Given the description of an element on the screen output the (x, y) to click on. 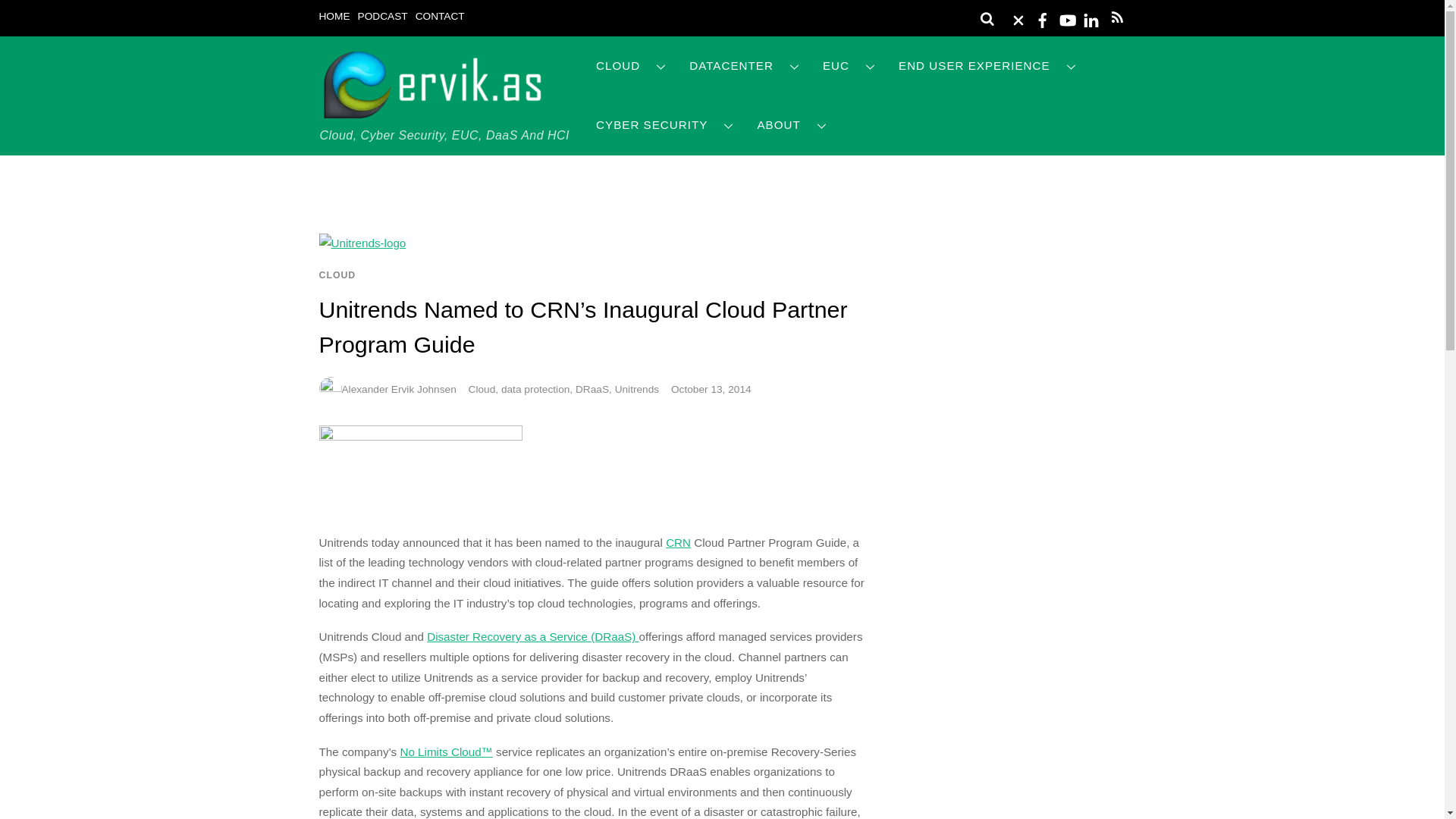
CLOUD (631, 66)
HOME (333, 16)
PODCAST (382, 16)
Ervik.as (432, 114)
Unitrends-logo (362, 243)
DATACENTER (744, 66)
CONTACT (439, 16)
